Given the description of an element on the screen output the (x, y) to click on. 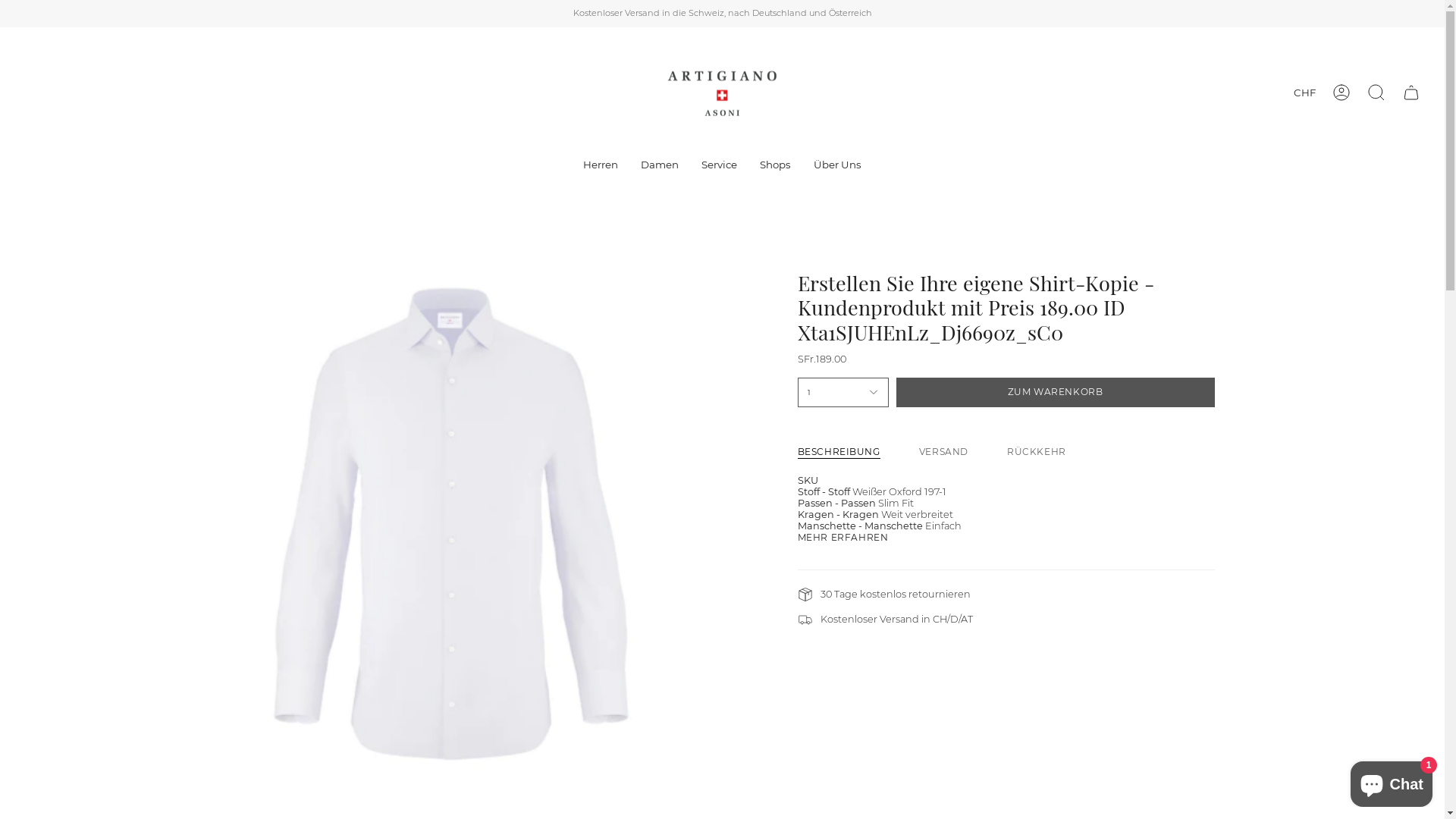
Onlineshop-Chat von Shopify Element type: hover (1391, 780)
Service Element type: text (719, 164)
Damen Element type: text (659, 164)
CHF Element type: text (1304, 92)
Herren Element type: text (600, 164)
ZUM WARENKORB Element type: text (1055, 392)
Shops Element type: text (775, 164)
MEHR ERFAHREN Element type: text (842, 537)
Konto Element type: text (1341, 92)
Warenkorb Element type: text (1410, 92)
1 Element type: text (842, 392)
